Given the description of an element on the screen output the (x, y) to click on. 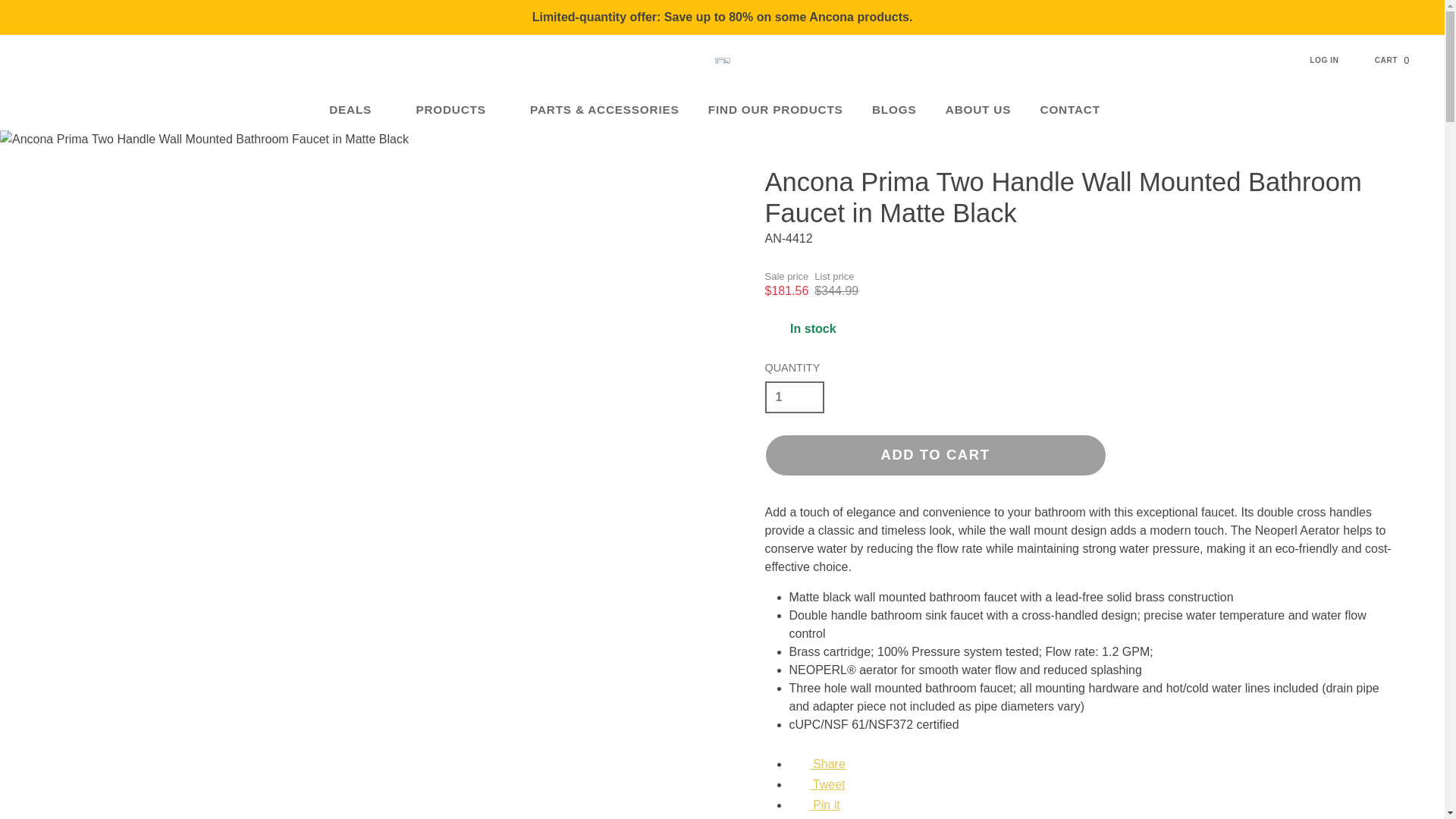
BLOGS (894, 109)
FIND OUR PRODUCTS (775, 109)
LOG IN (1333, 60)
PRODUCTS (458, 109)
CONTACT (1077, 109)
DEALS (357, 109)
ABOUT US (1400, 60)
